Given the description of an element on the screen output the (x, y) to click on. 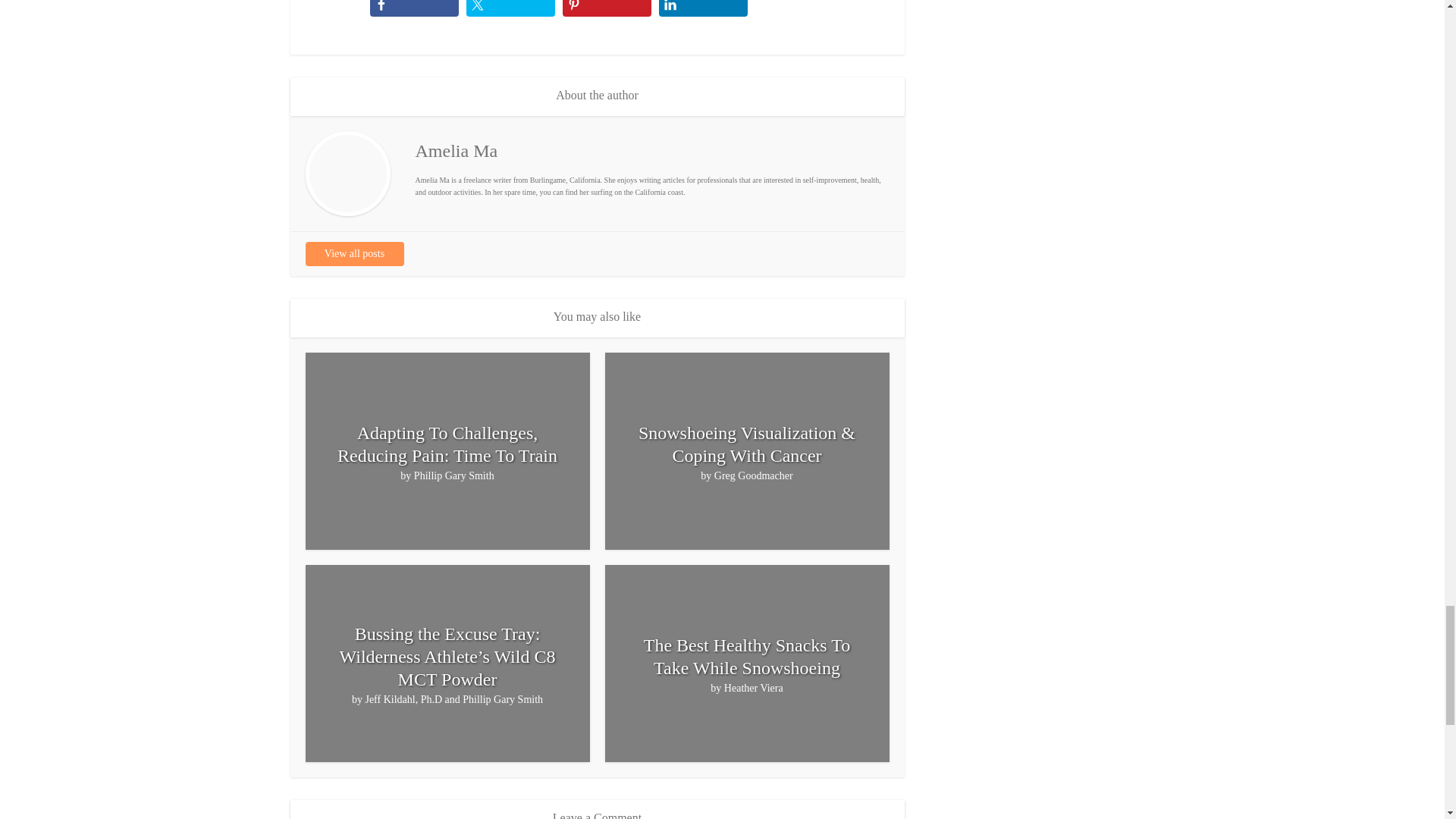
Share on Facebook (413, 8)
Share on Twitter (509, 8)
Share on Pinterest (606, 8)
Adapting To Challenges, Reducing Pain: Time To Train (446, 443)
Share on LinkedIn (702, 8)
